Given the description of an element on the screen output the (x, y) to click on. 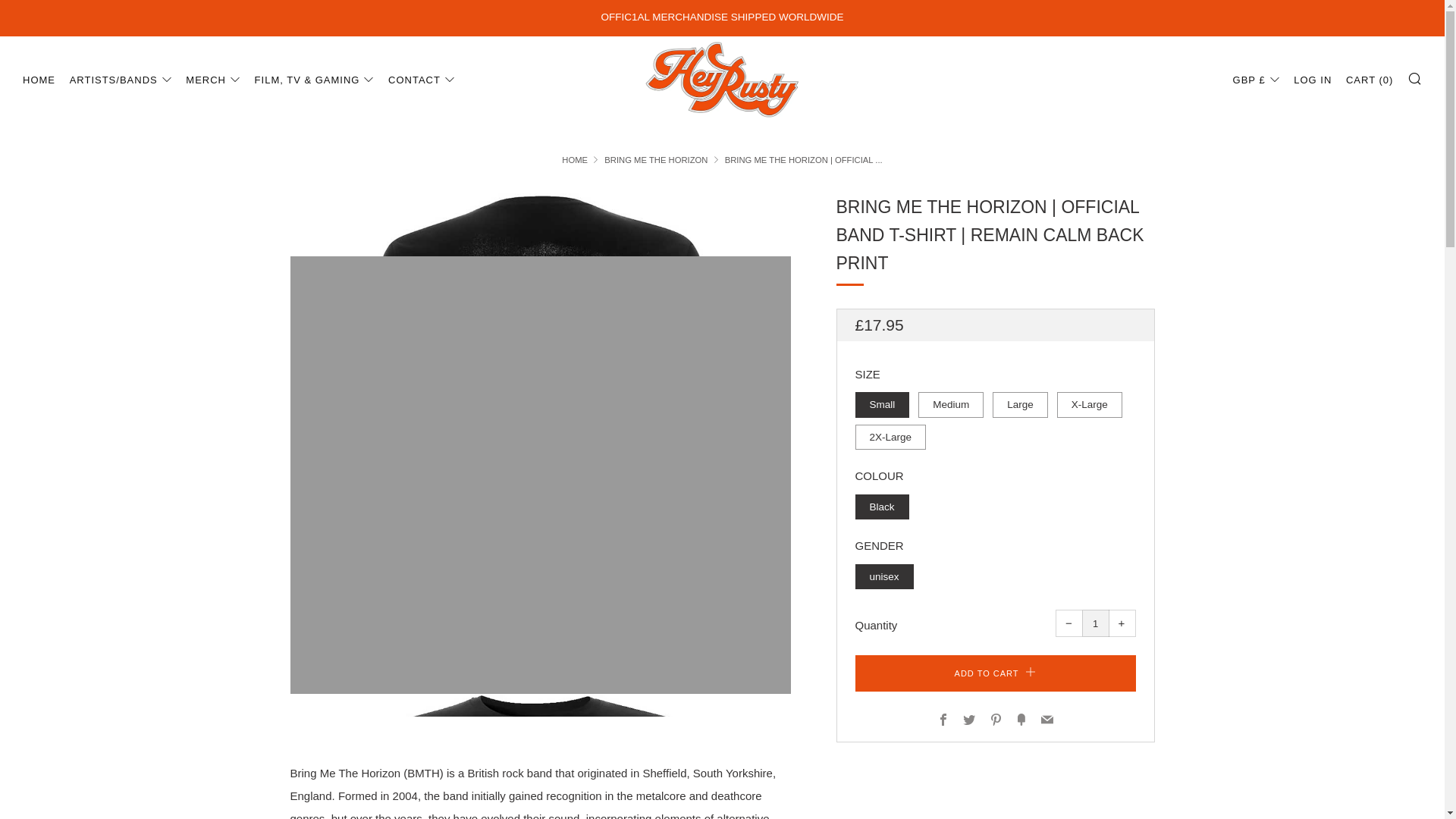
Home (575, 159)
1 (1094, 623)
